Given the description of an element on the screen output the (x, y) to click on. 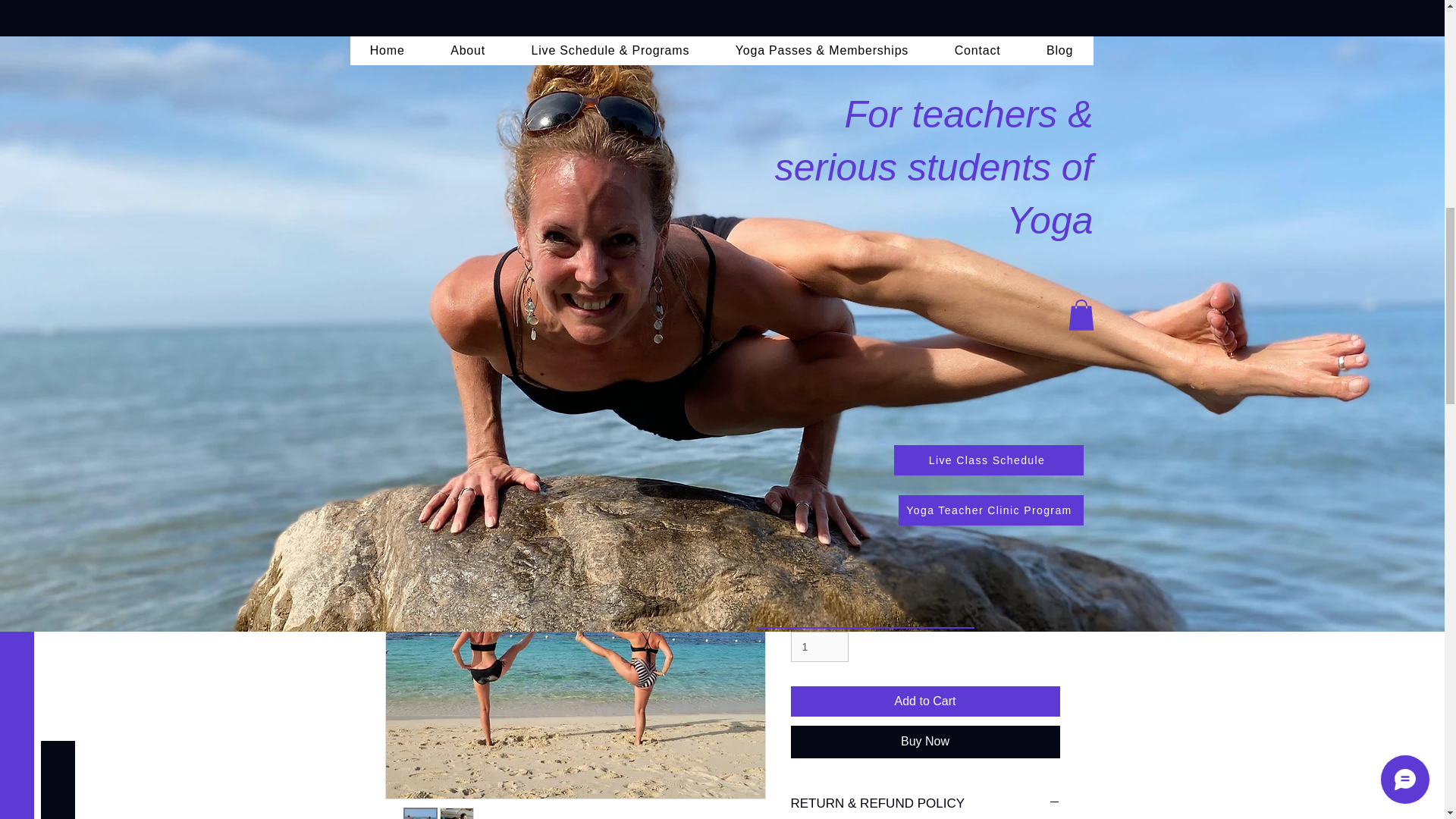
Buy Now (924, 741)
1 (818, 646)
Add to Cart (924, 701)
